Given the description of an element on the screen output the (x, y) to click on. 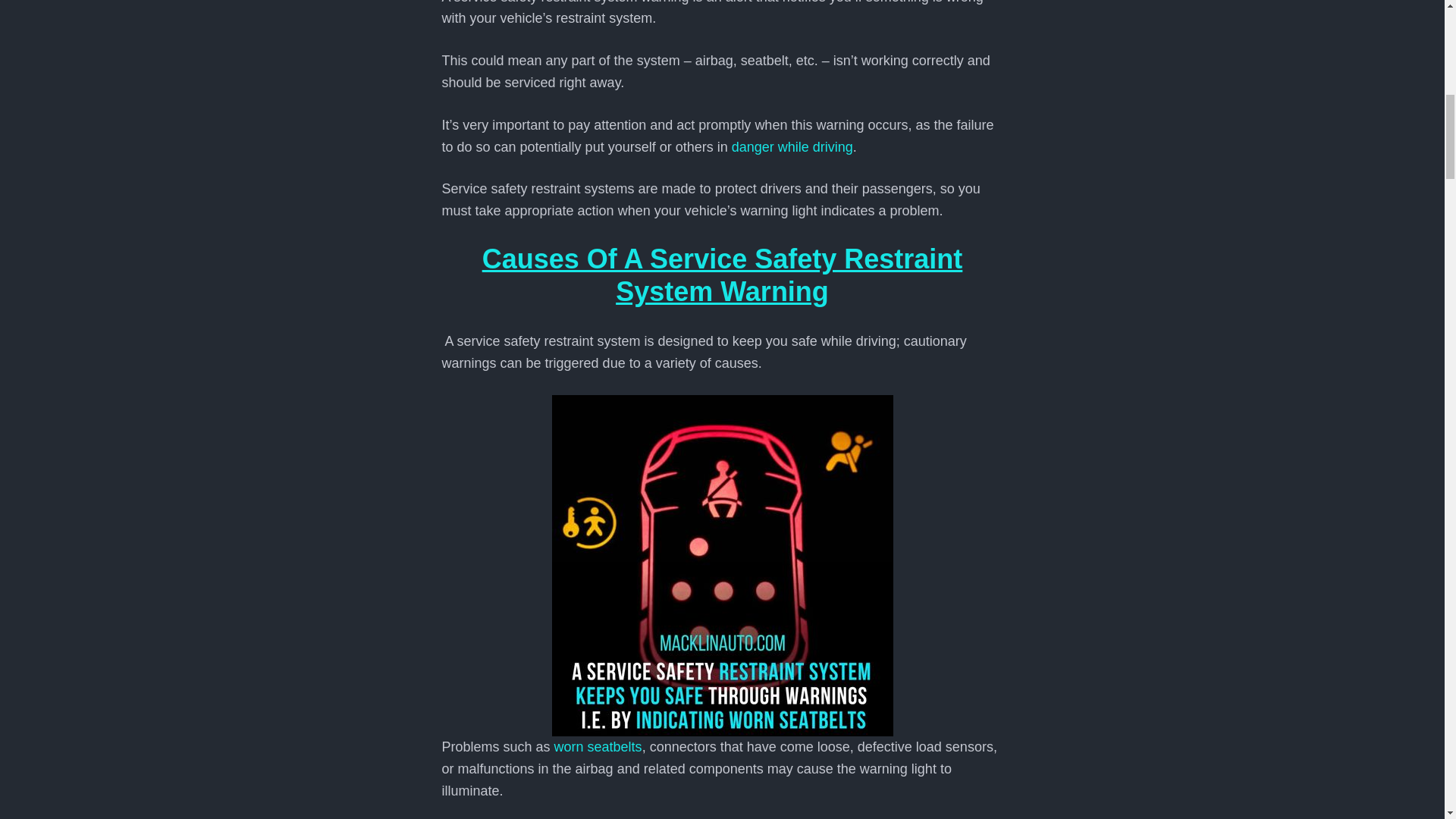
danger while driving (790, 146)
worn seatbelts (596, 746)
